Given the description of an element on the screen output the (x, y) to click on. 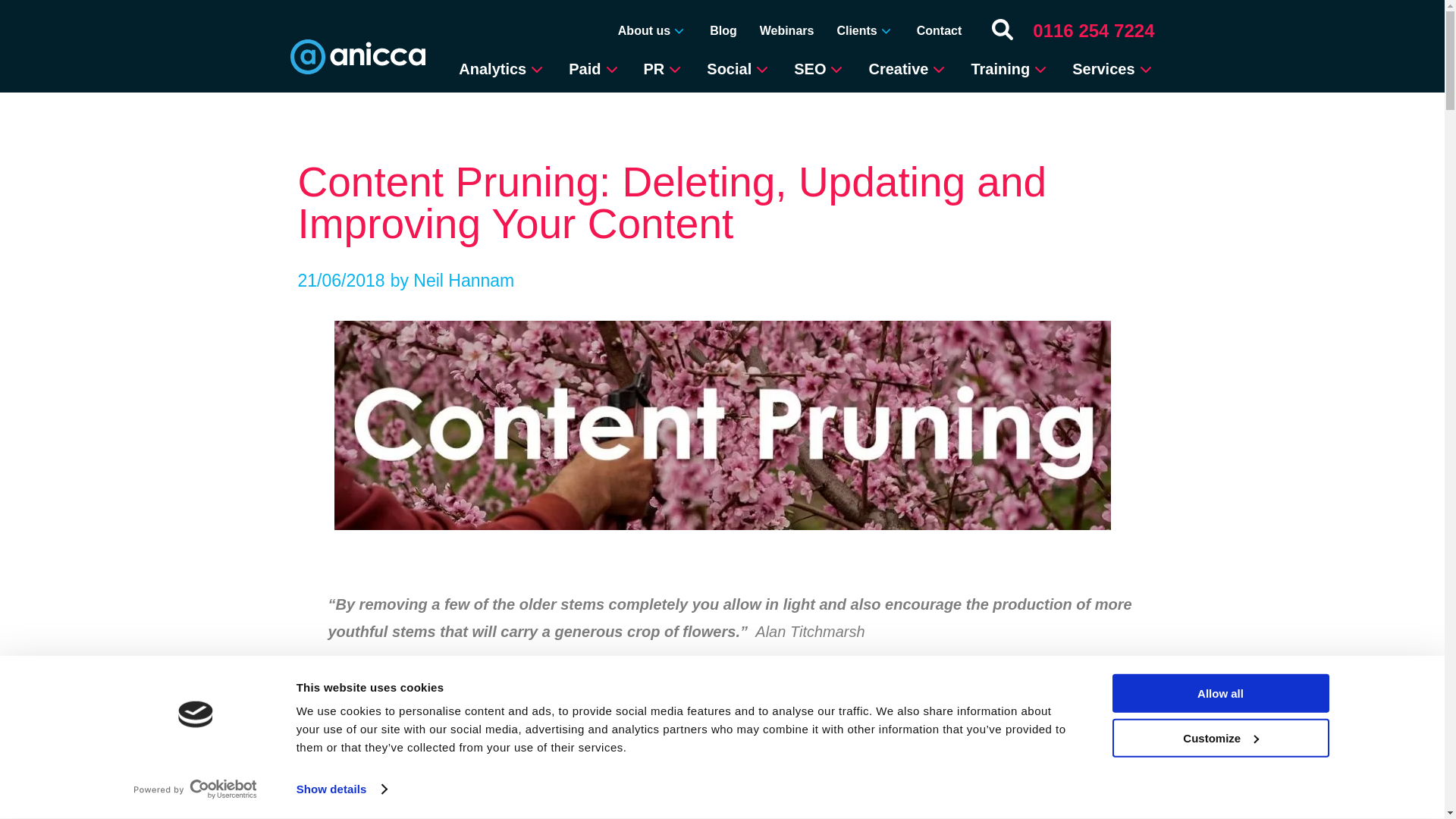
Show details (341, 789)
